Given the description of an element on the screen output the (x, y) to click on. 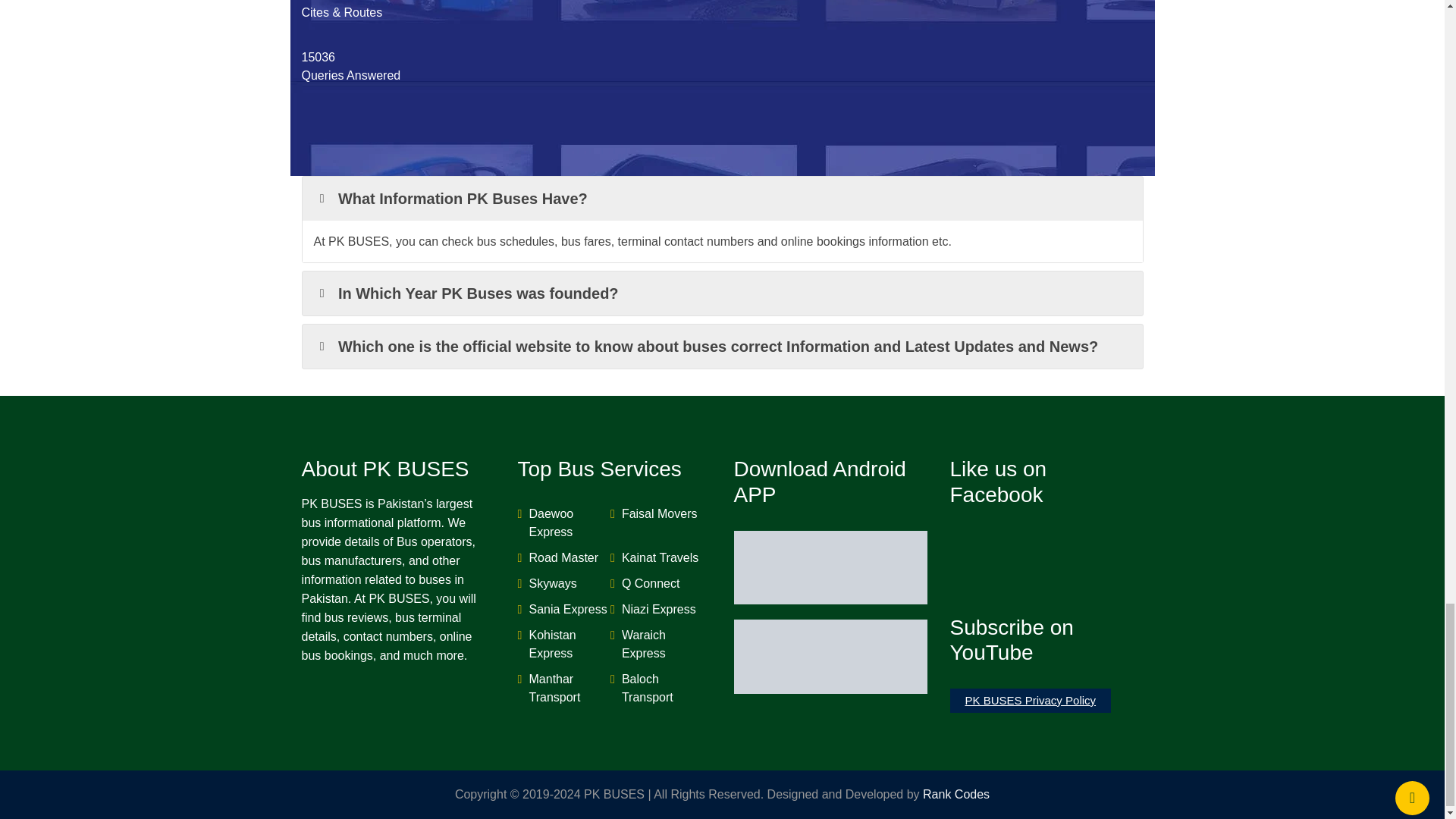
Facebook Page Plugin (1045, 560)
Download PK BUSES app on Google Play (830, 566)
